Given the description of an element on the screen output the (x, y) to click on. 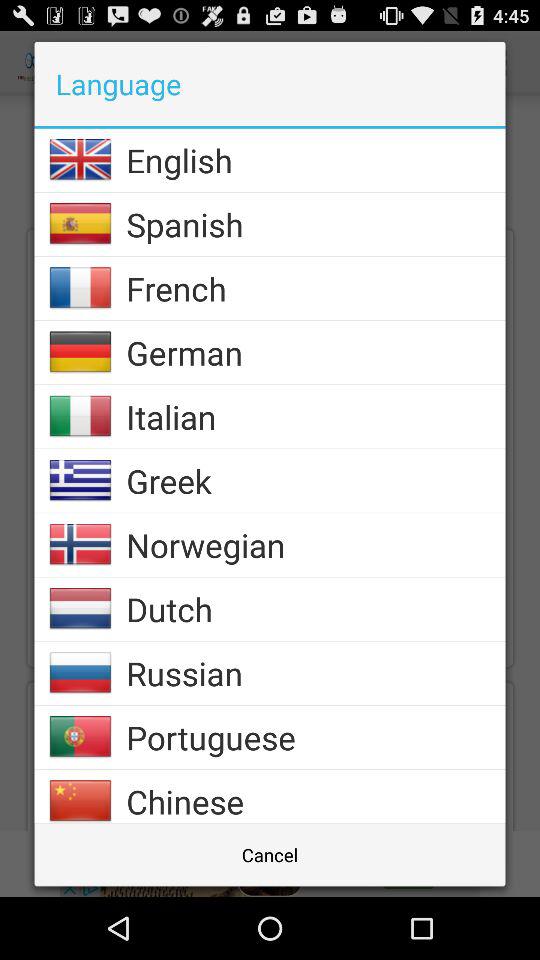
scroll until the cancel icon (269, 854)
